Given the description of an element on the screen output the (x, y) to click on. 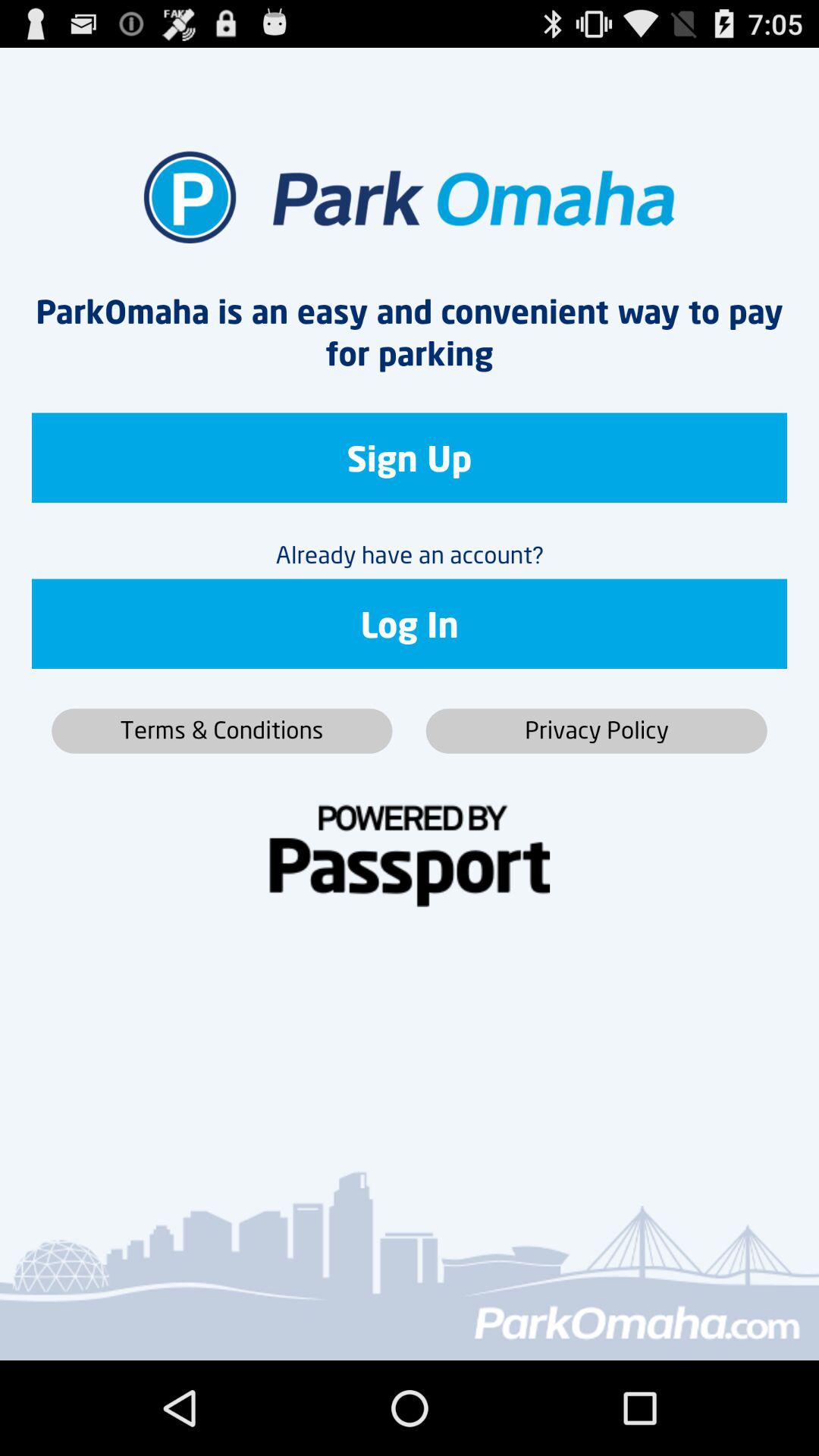
select the item above terms & conditions icon (409, 623)
